Given the description of an element on the screen output the (x, y) to click on. 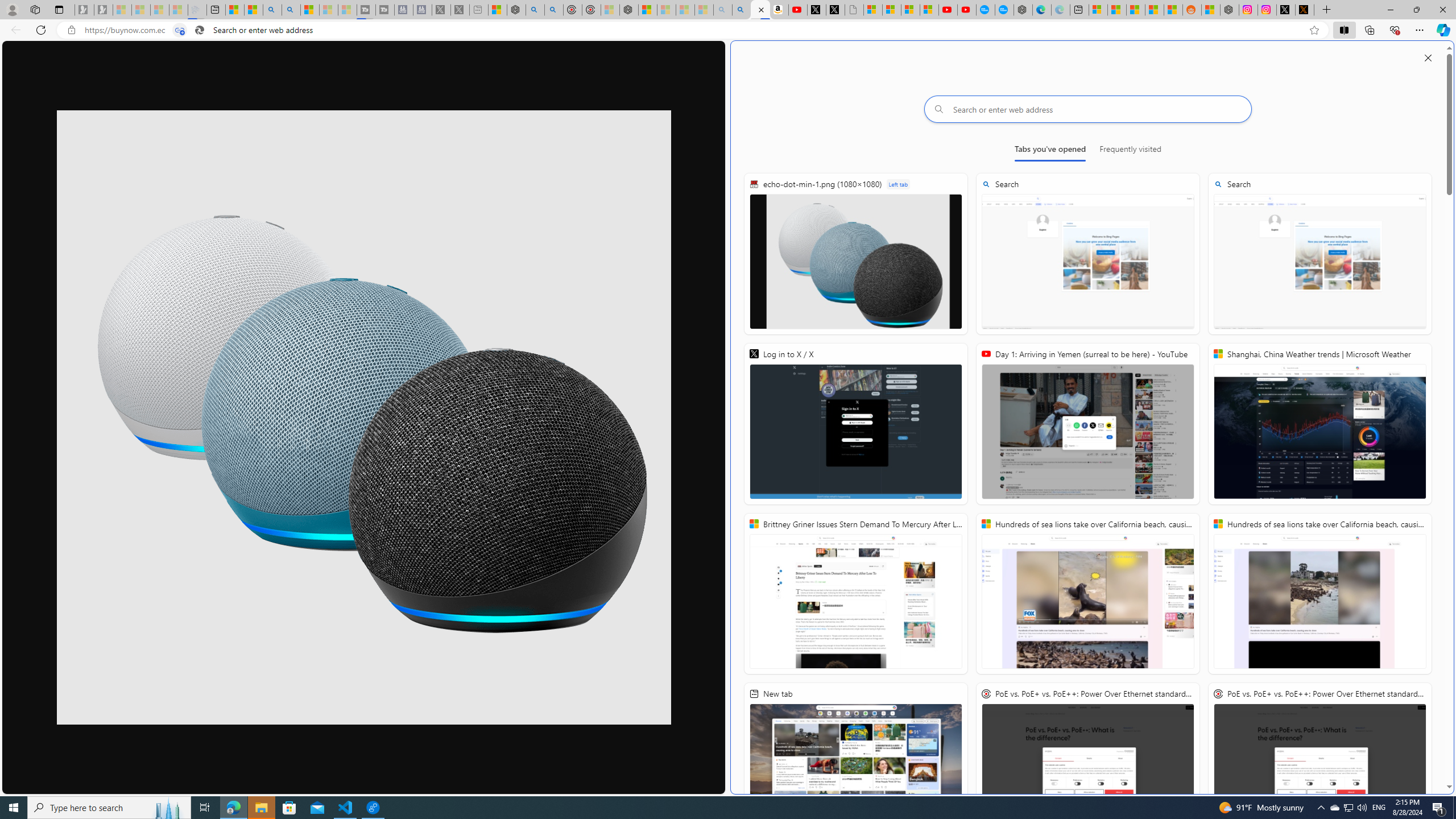
X - Sleeping (459, 9)
Shanghai, China Weather trends | Microsoft Weather (1319, 423)
View site information (70, 29)
Close split screen (1428, 57)
Log in to X / X (1285, 9)
Add this page to favorites (Ctrl+D) (1314, 29)
Tabs you've opened (1049, 151)
Minimize (1390, 9)
Restore (1416, 9)
Workspaces (34, 9)
New tab (1079, 9)
Address and search bar (692, 29)
